Given the description of an element on the screen output the (x, y) to click on. 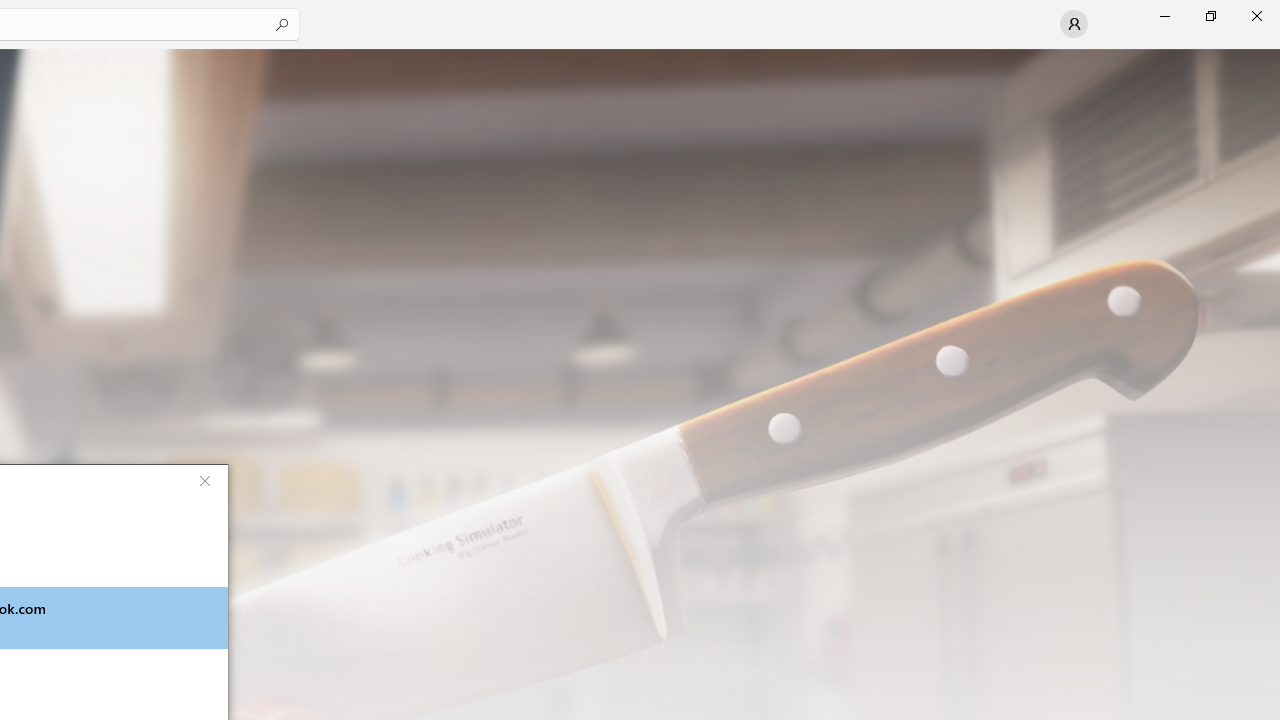
Close Microsoft Store (1256, 15)
Vertical Large Decrease (1272, 111)
Vertical Small Decrease (1272, 55)
Restore Microsoft Store (1210, 15)
Minimize Microsoft Store (1164, 15)
Close Sign in (204, 480)
User profile (1073, 24)
